Given the description of an element on the screen output the (x, y) to click on. 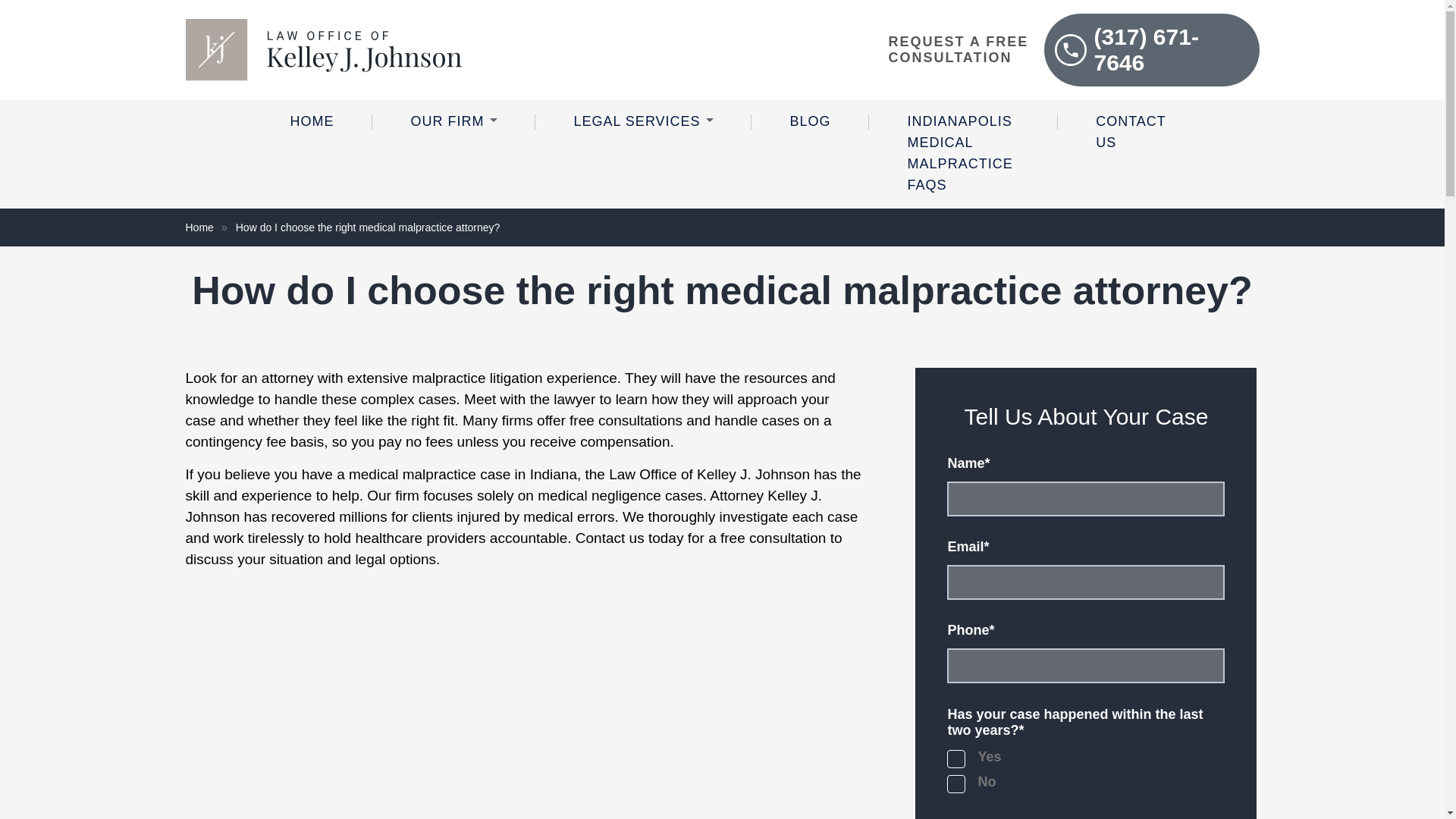
Our Firm (453, 121)
Legal Services (643, 121)
INDIANAPOLIS MEDICAL MALPRACTICE FAQS (963, 153)
Indianapolis Medical Malpractice FAQs (963, 153)
Home (311, 121)
LEGAL SERVICES (643, 121)
Home (207, 227)
OUR FIRM (453, 121)
BLOG (810, 121)
CONTACT US (1131, 132)
HOME (311, 121)
Blog (810, 121)
Contact Us (1131, 132)
